Given the description of an element on the screen output the (x, y) to click on. 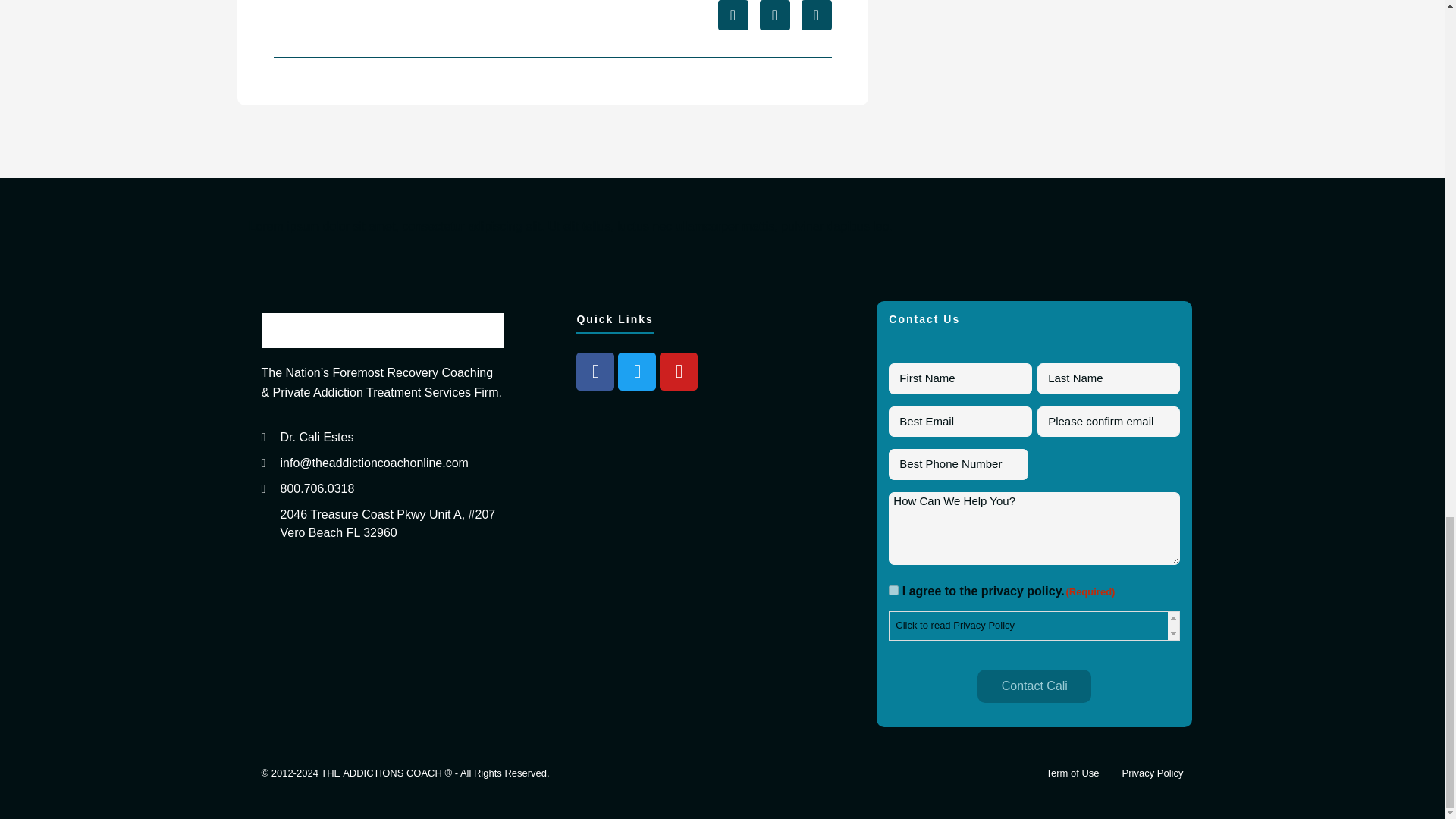
Contact Cali (1033, 685)
1 (893, 590)
